Given the description of an element on the screen output the (x, y) to click on. 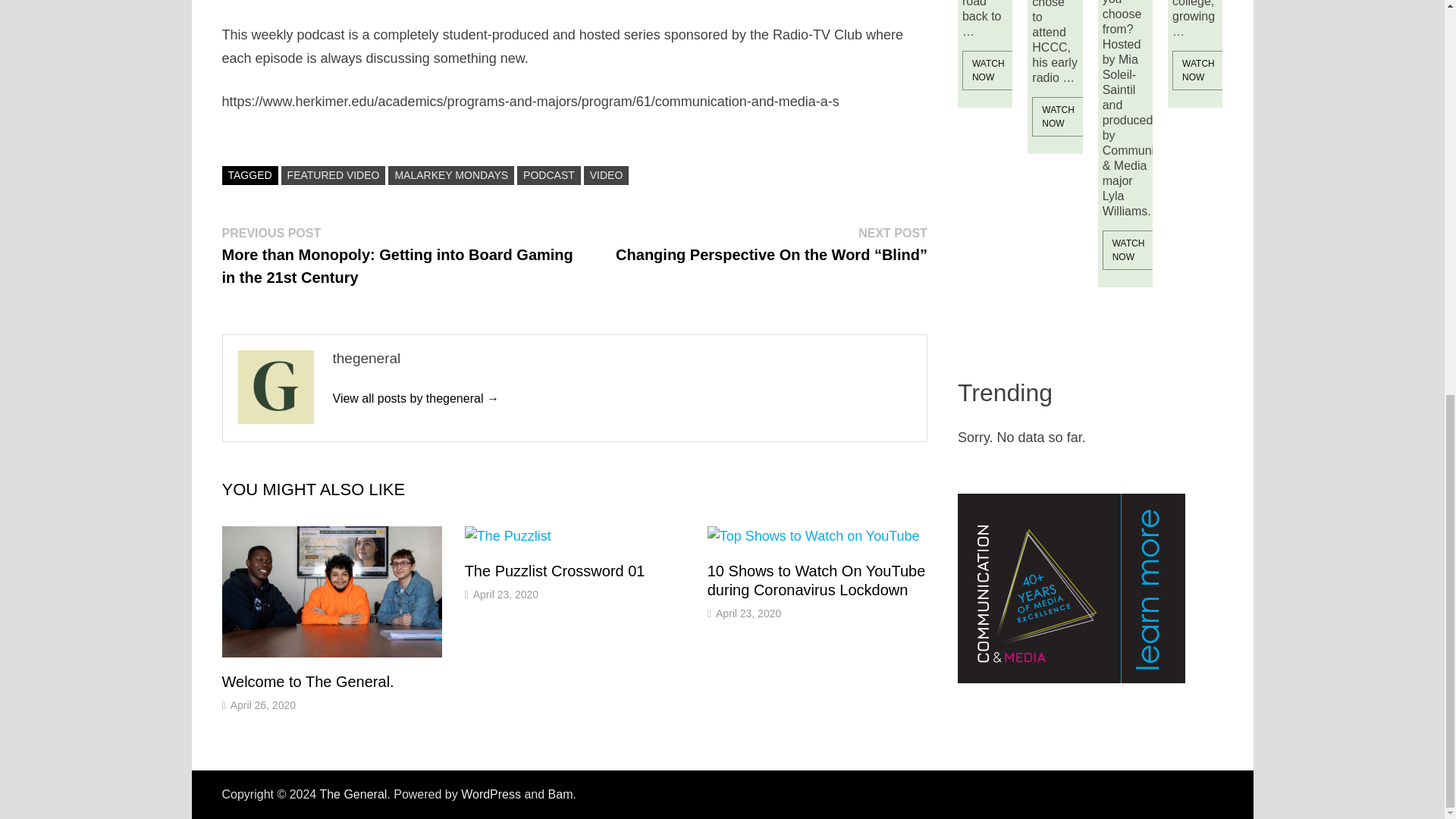
MALARKEY MONDAYS (450, 175)
The Puzzlist Crossword 01 (554, 570)
10 Shows to Watch On YouTube during Coronavirus Lockdown (816, 580)
April 23, 2020 (505, 594)
FEATURED VIDEO (333, 175)
The General (352, 793)
Welcome to The General. (307, 681)
thegeneral (414, 398)
VIDEO (605, 175)
